Given the description of an element on the screen output the (x, y) to click on. 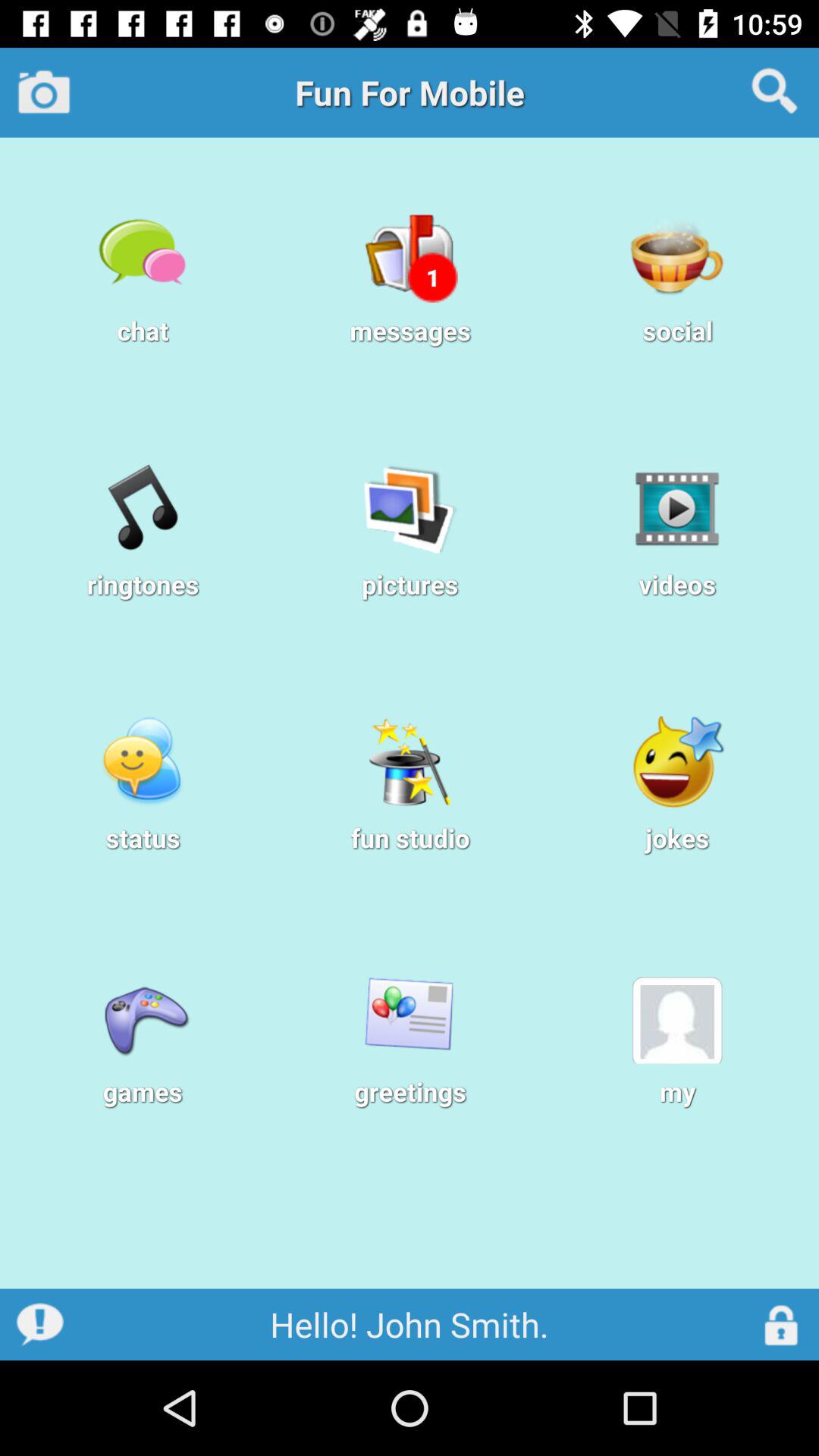
launch the item to the right of chat (432, 277)
